Given the description of an element on the screen output the (x, y) to click on. 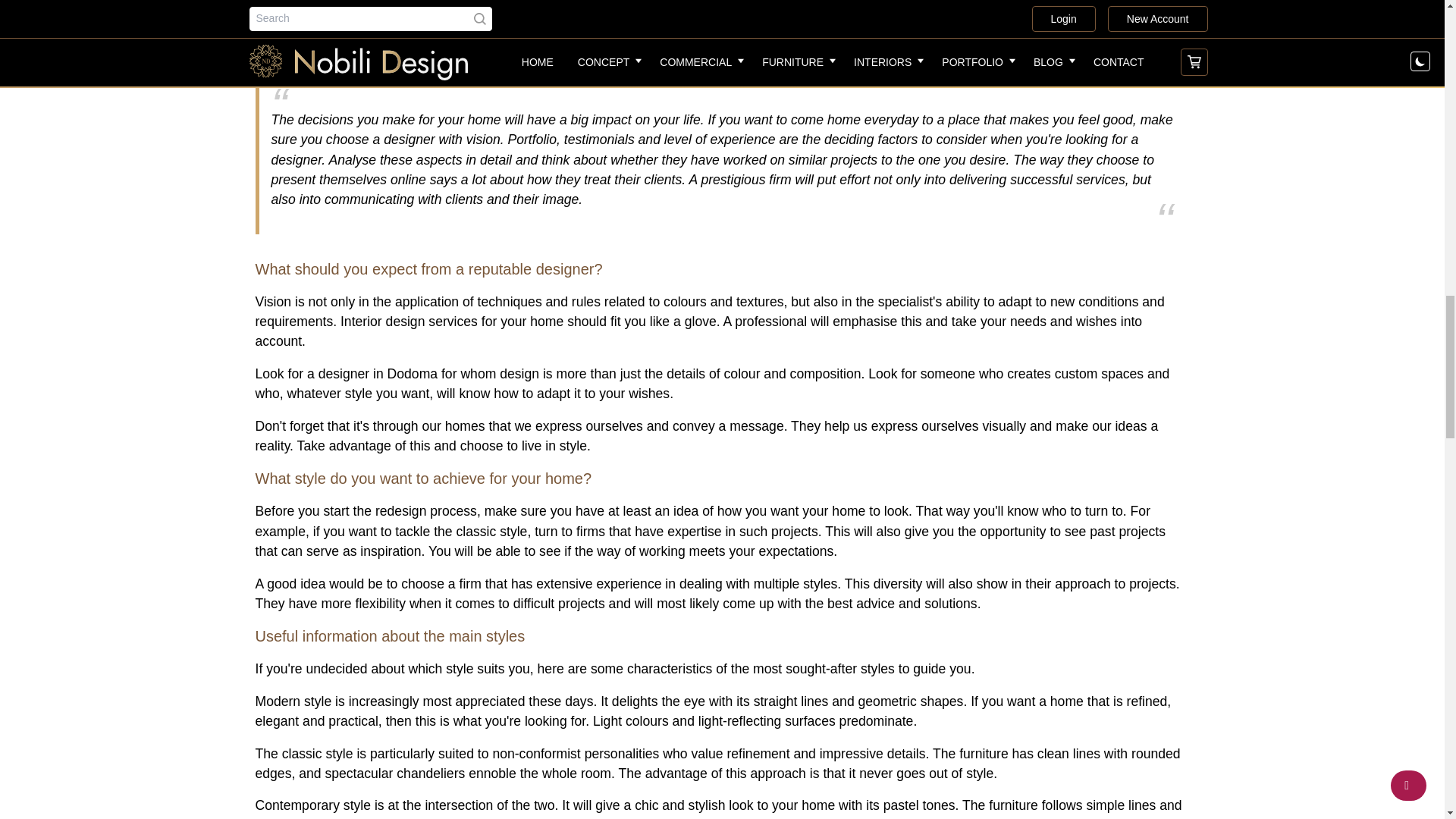
Essential questions to ask your specialist (721, 805)
What style do you want to achieve for your home? (721, 449)
Useful information about the main styles (721, 607)
What should you expect from a reputable designer? (721, 240)
